Given the description of an element on the screen output the (x, y) to click on. 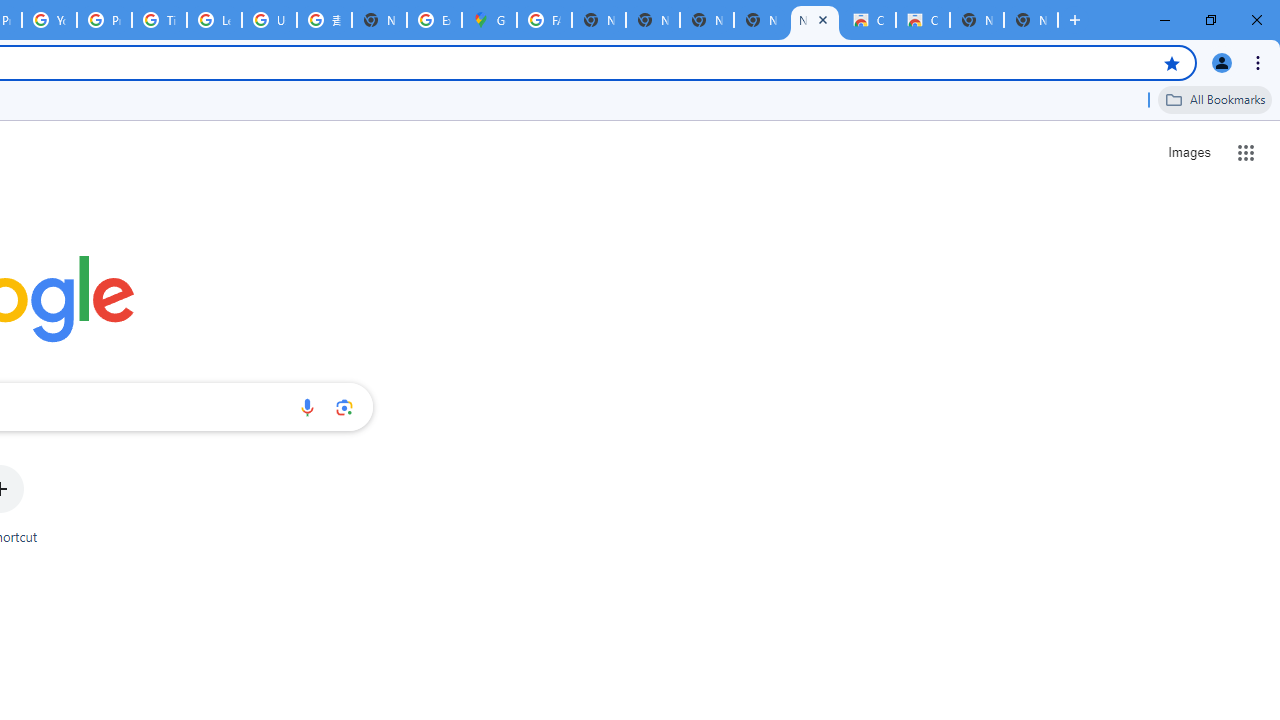
Classic Blue - Chrome Web Store (922, 20)
Tips & tricks for Chrome - Google Chrome Help (158, 20)
Explore new street-level details - Google Maps Help (434, 20)
Classic Blue - Chrome Web Store (868, 20)
